Given the description of an element on the screen output the (x, y) to click on. 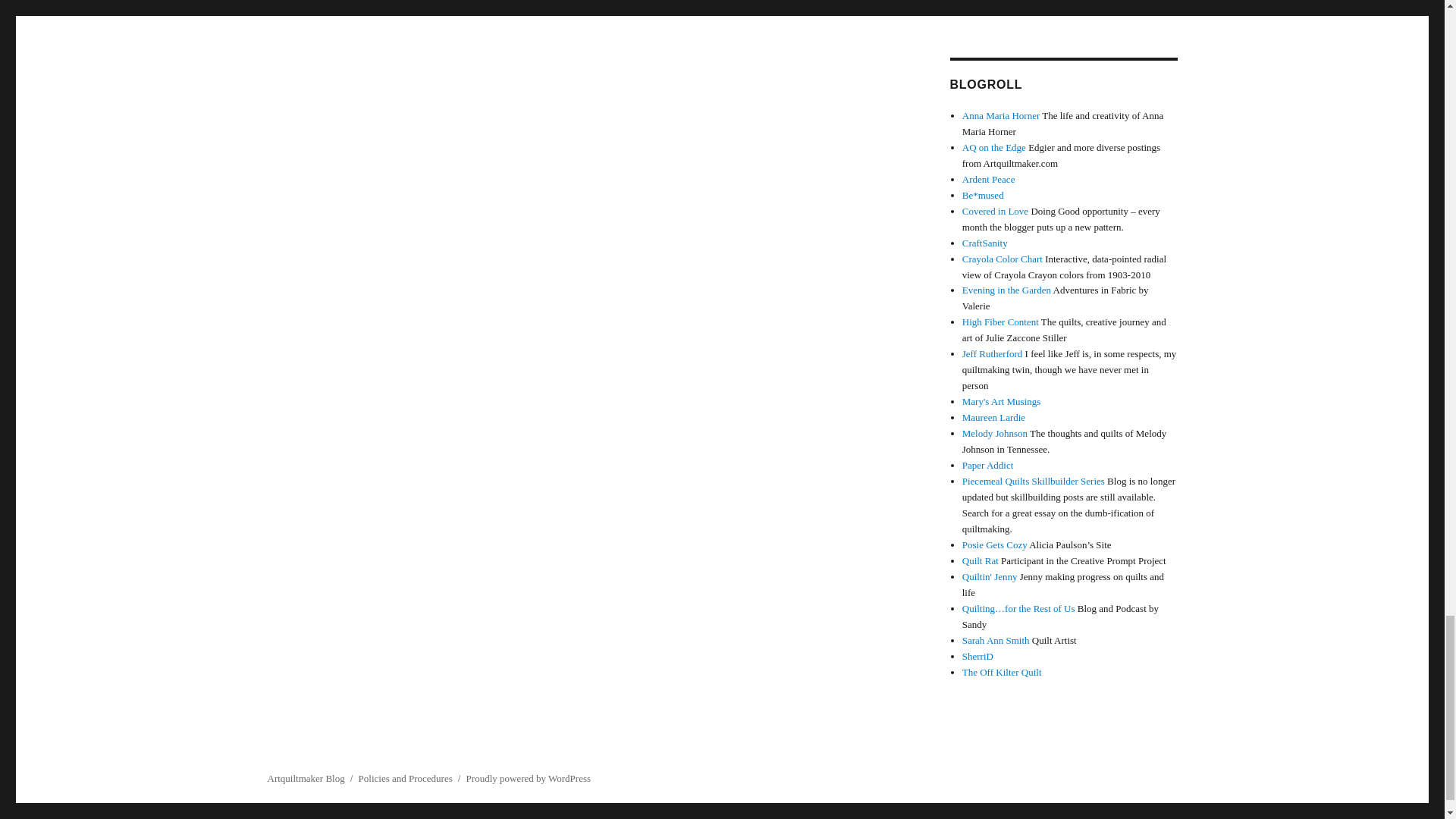
Adventures in Fabric by Valerie (1006, 289)
The life and creativity of Anna Maria Horner (1001, 115)
Edgier and more diverse postings from Artquiltmaker.com (994, 147)
The thoughts and quilts of Melody Johnson in Tennessee. (994, 432)
